Given the description of an element on the screen output the (x, y) to click on. 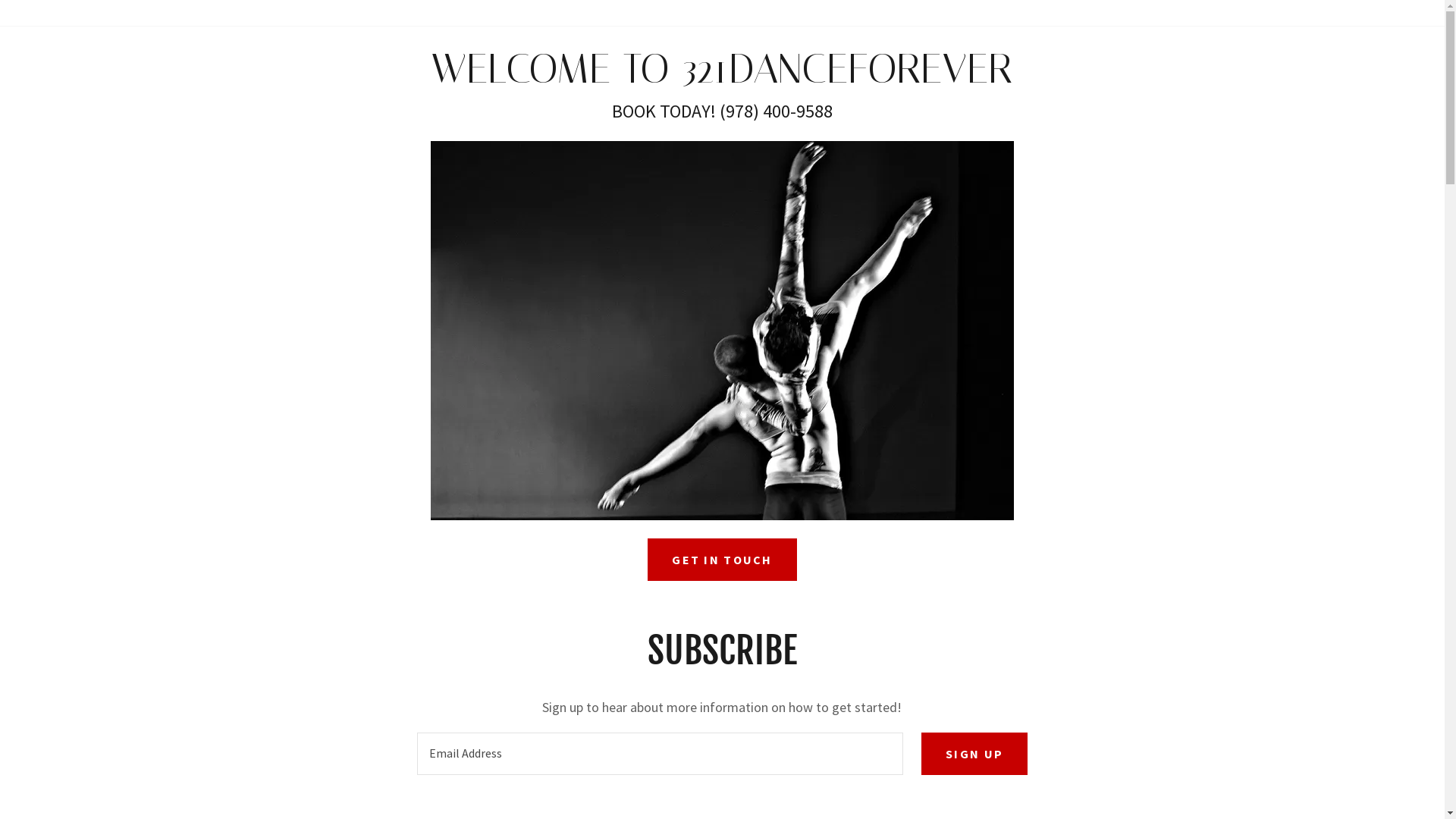
GET IN TOUCH Element type: text (721, 559)
SIGN UP Element type: text (974, 753)
WELCOME TO 321DANCEFOREVER Element type: text (722, 77)
